Given the description of an element on the screen output the (x, y) to click on. 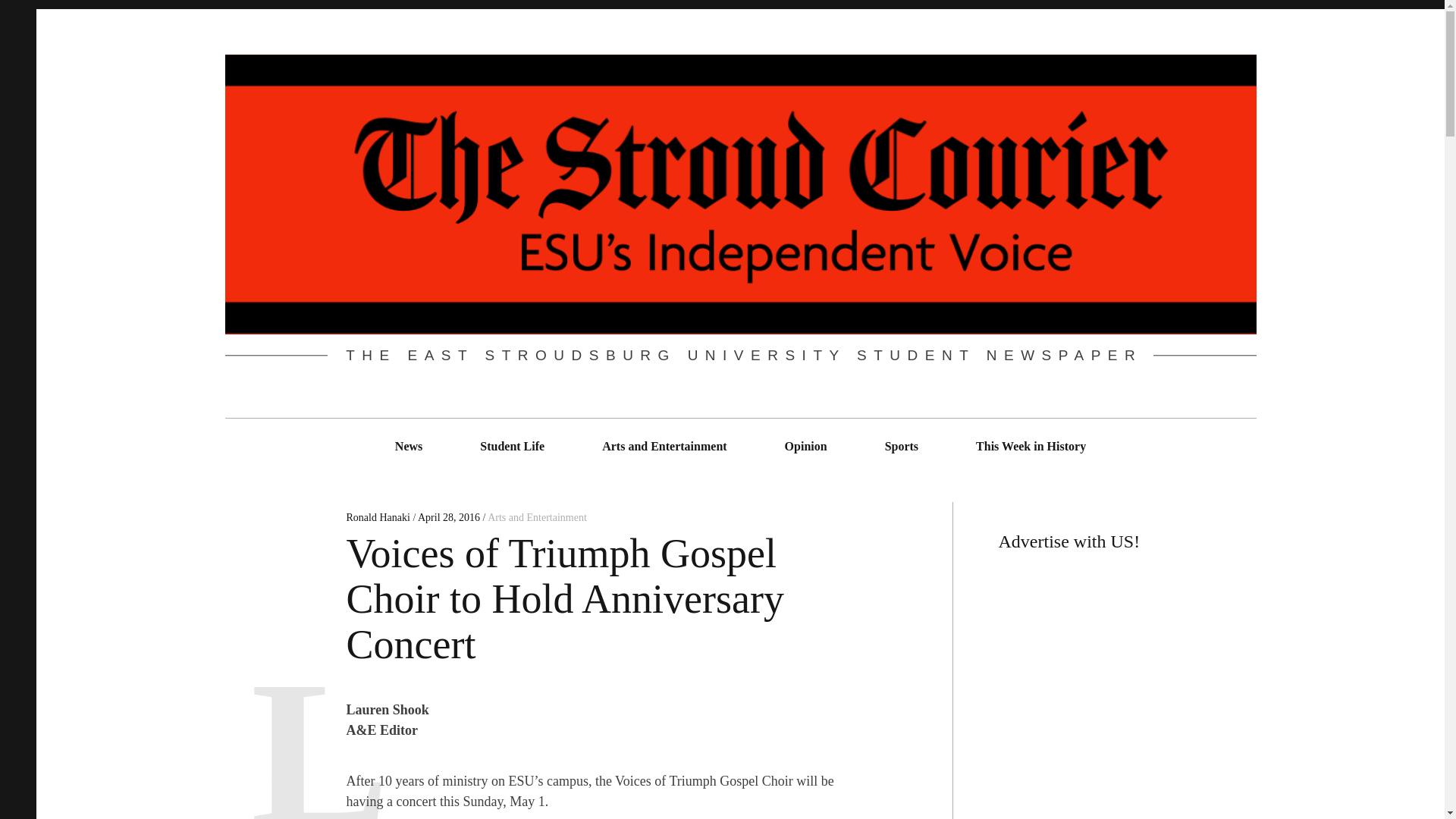
April 28, 2016 (448, 517)
Arts and Entertainment (664, 446)
Sports (900, 446)
News (408, 446)
Arts and Entertainment (536, 517)
Student Life (512, 446)
Opinion (805, 446)
This Week in History (1031, 446)
Ronald Hanaki (379, 517)
